Given the description of an element on the screen output the (x, y) to click on. 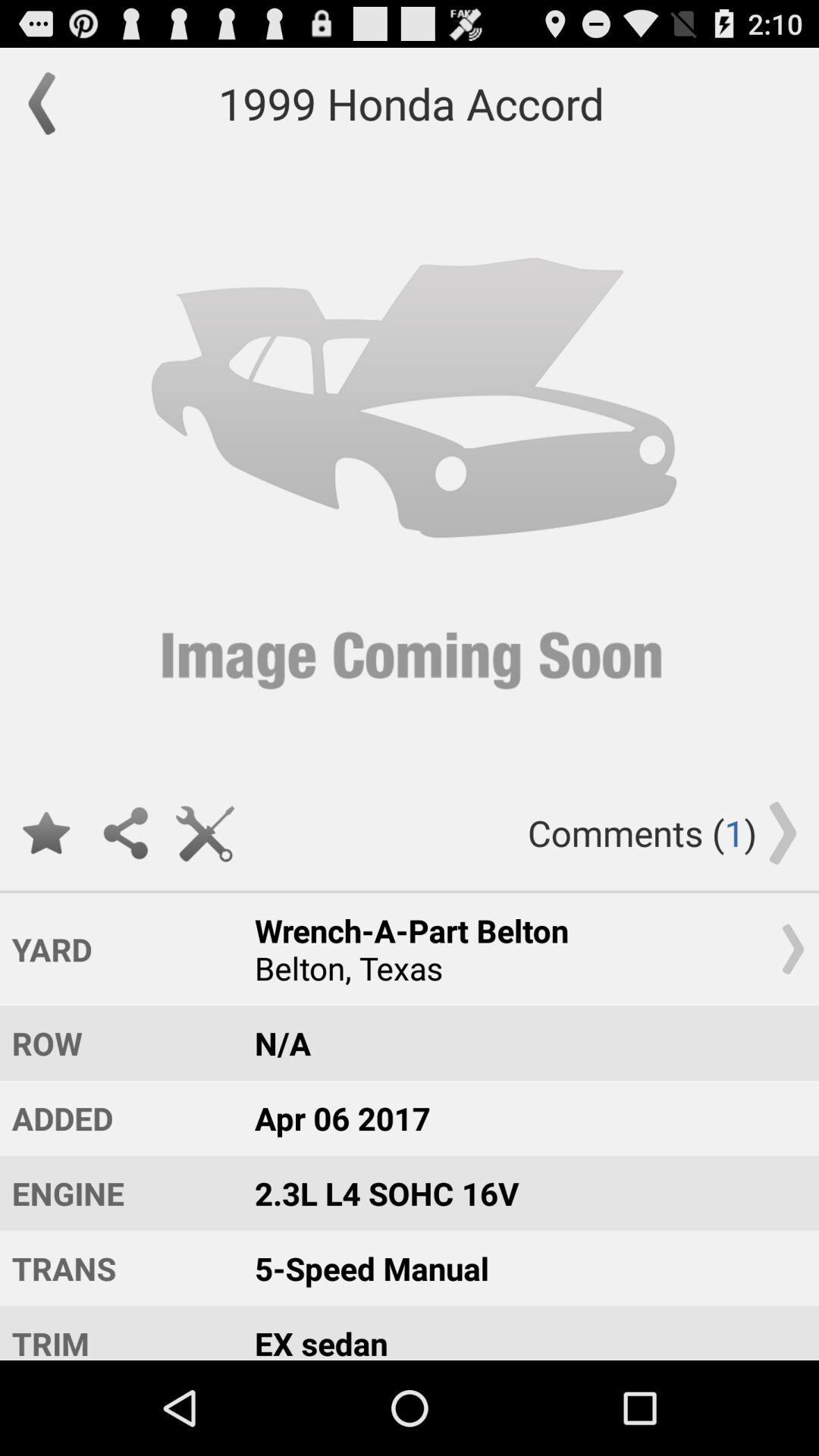
share product on social media (125, 833)
